Given the description of an element on the screen output the (x, y) to click on. 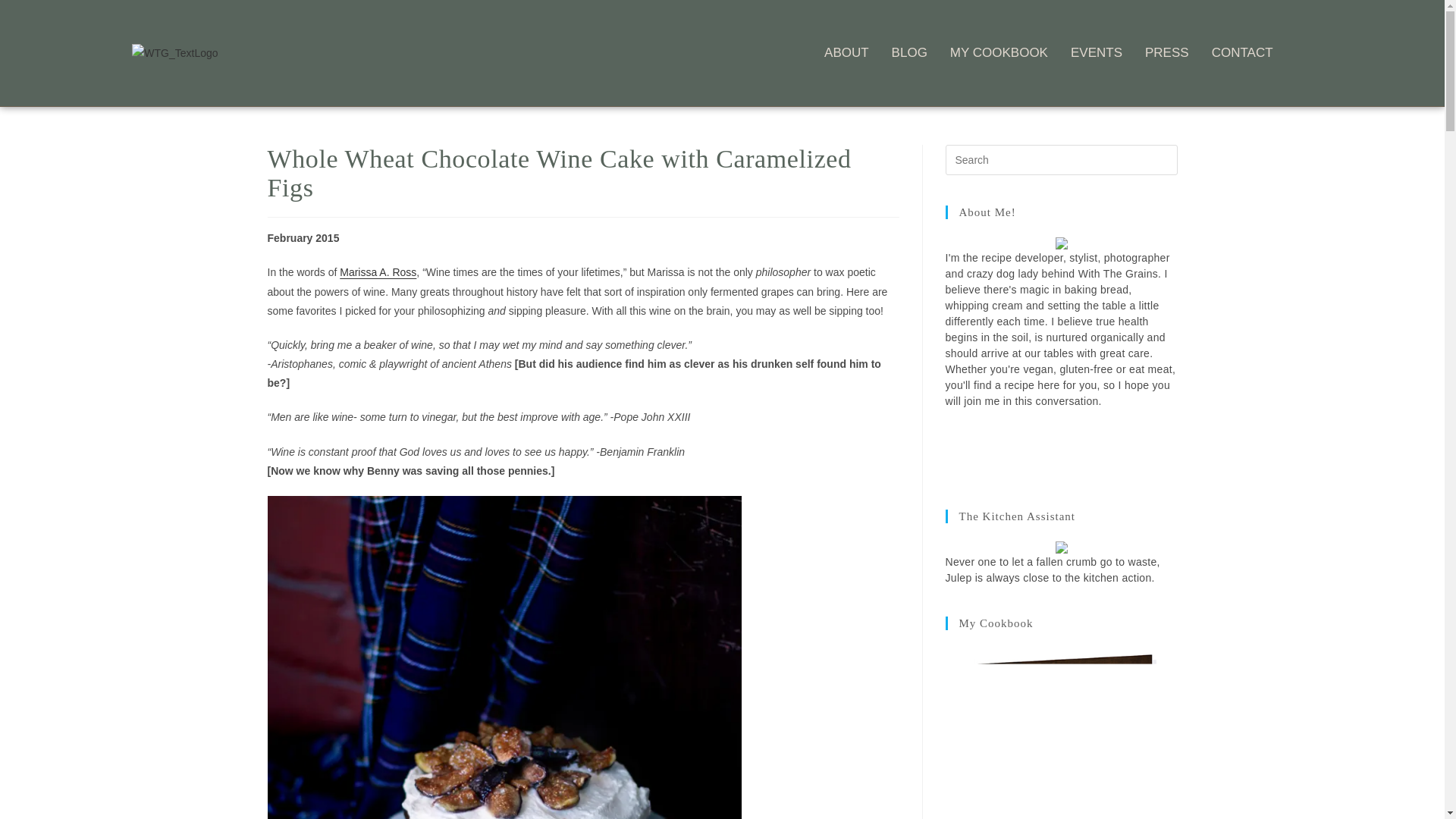
ABOUT (846, 52)
MY COOKBOOK (999, 52)
CONTACT (1241, 52)
EVENTS (1096, 52)
Marissa A. Ross (377, 272)
PRESS (1166, 52)
BLOG (909, 52)
